Given the description of an element on the screen output the (x, y) to click on. 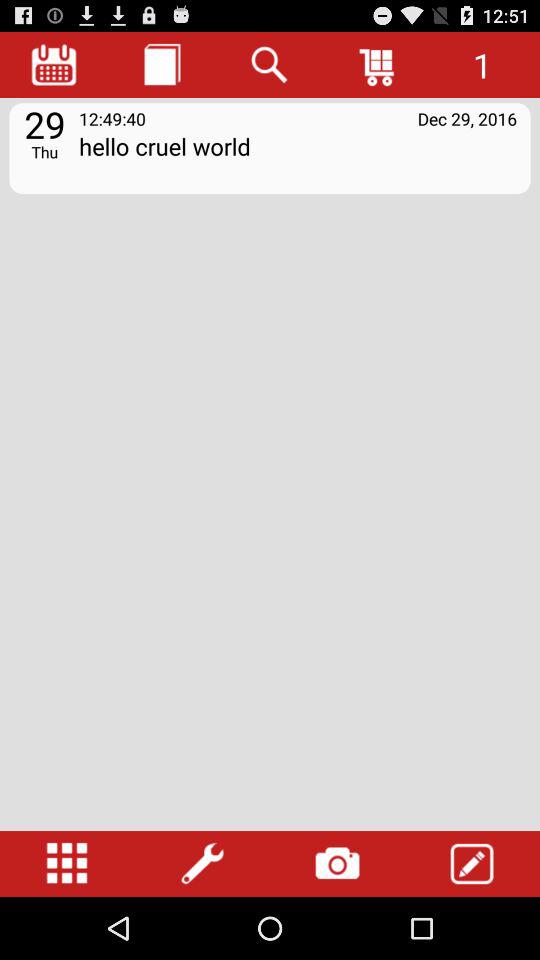
open photos (337, 863)
